Given the description of an element on the screen output the (x, y) to click on. 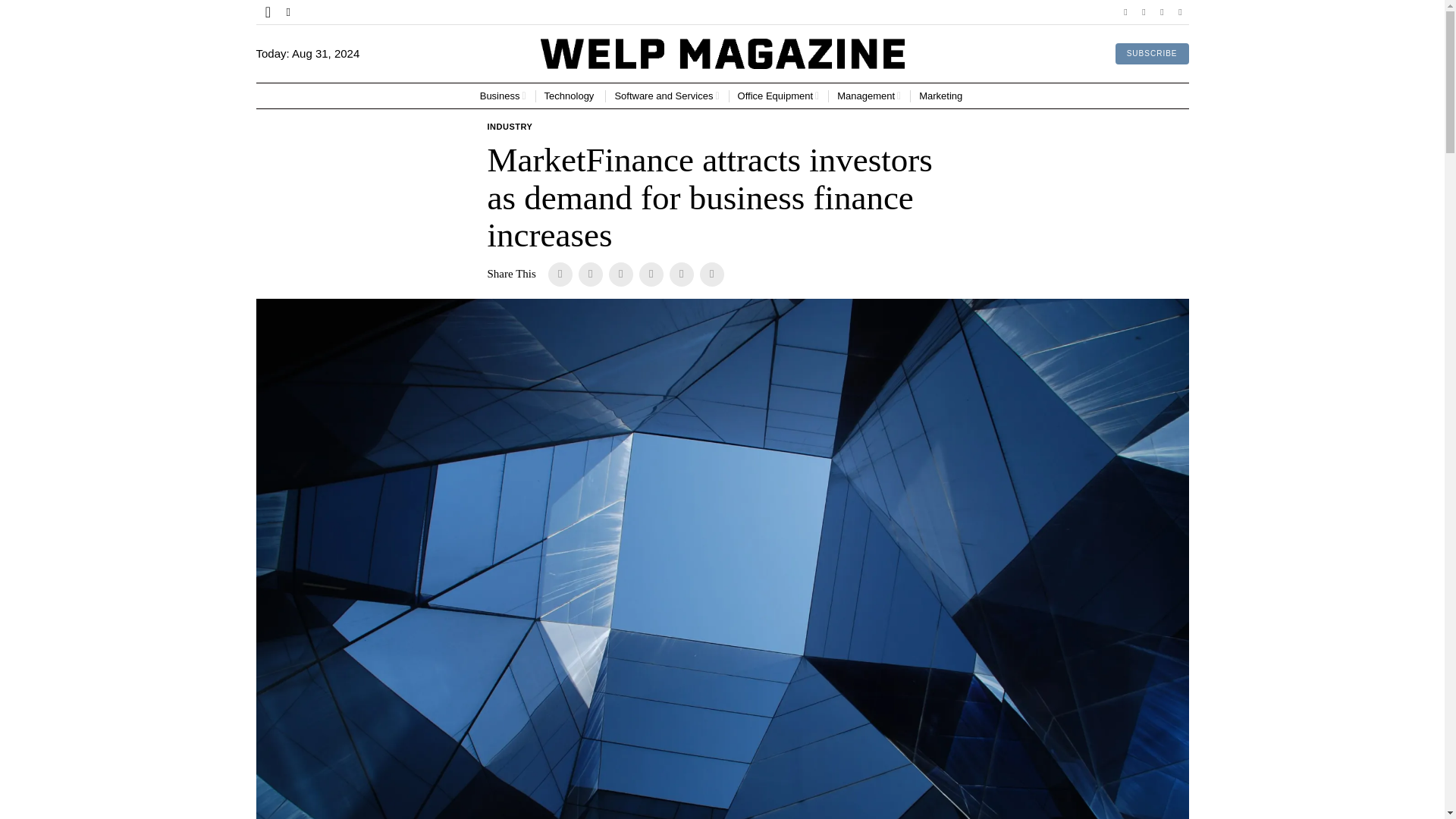
Office Equipment (778, 95)
Marketing (942, 95)
Management (869, 95)
INDUSTRY (509, 127)
Business (502, 95)
Technology (570, 95)
SUBSCRIBE (1152, 53)
Software and Services (666, 95)
